Given the description of an element on the screen output the (x, y) to click on. 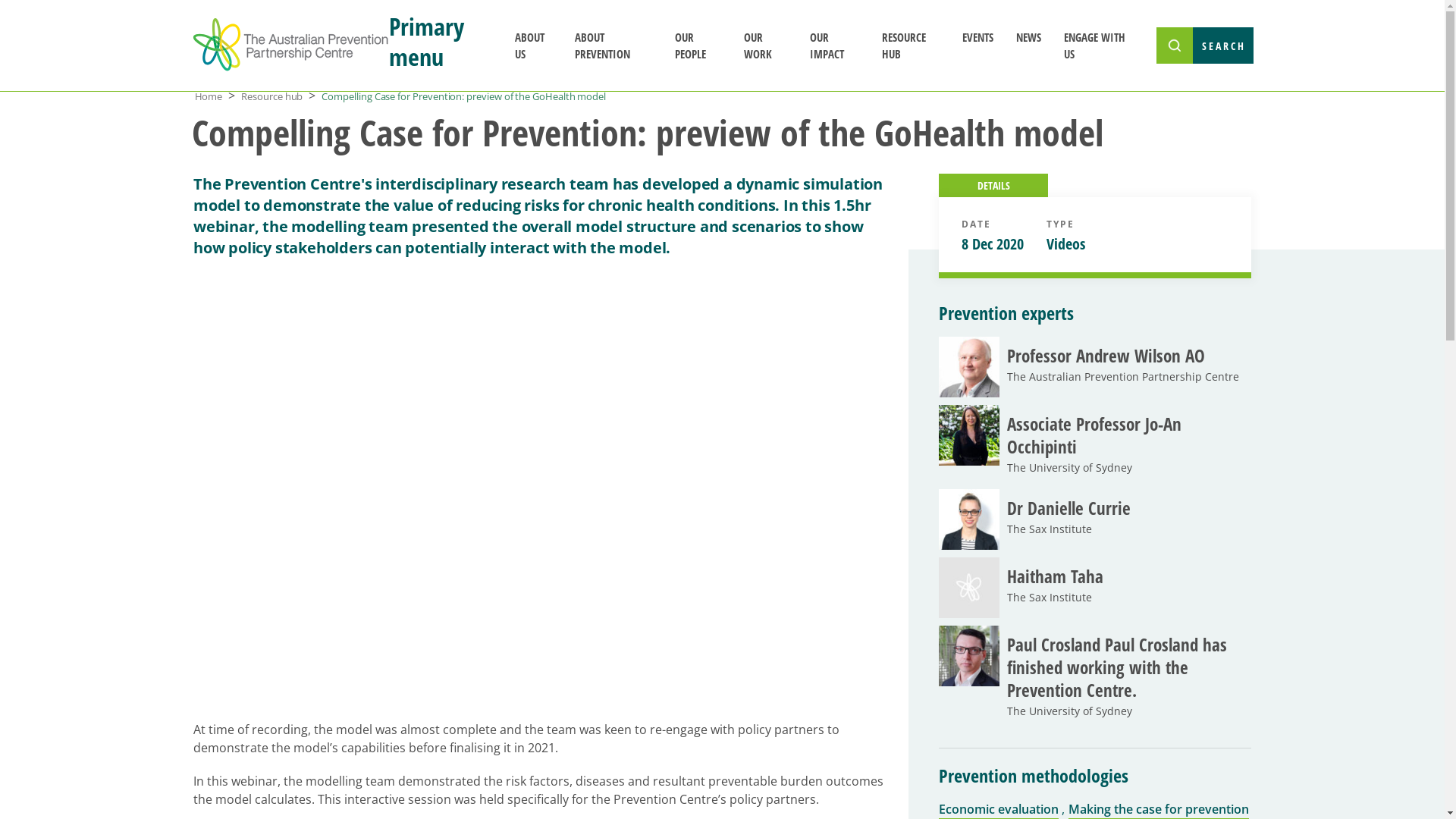
OUR WORK Element type: text (765, 45)
ABOUT PREVENTION Element type: text (613, 45)
Home page - The Prevention Centre Element type: hover (289, 45)
Haitham Taha
The Sax Institute Element type: text (1094, 587)
Home Element type: text (207, 95)
ABOUT US Element type: text (533, 45)
ENGAGE WITH US Element type: text (1096, 45)
EVENTS Element type: text (977, 36)
OUR PEOPLE Element type: text (697, 45)
OUR IMPACT Element type: text (834, 45)
SEARCH Element type: text (1203, 45)
Dr Danielle Currie
The Sax Institute Element type: text (1094, 519)
Resource hub Element type: text (271, 95)
RESOURCE HUB Element type: text (910, 45)
NEWS Element type: text (1028, 36)
